Given the description of an element on the screen output the (x, y) to click on. 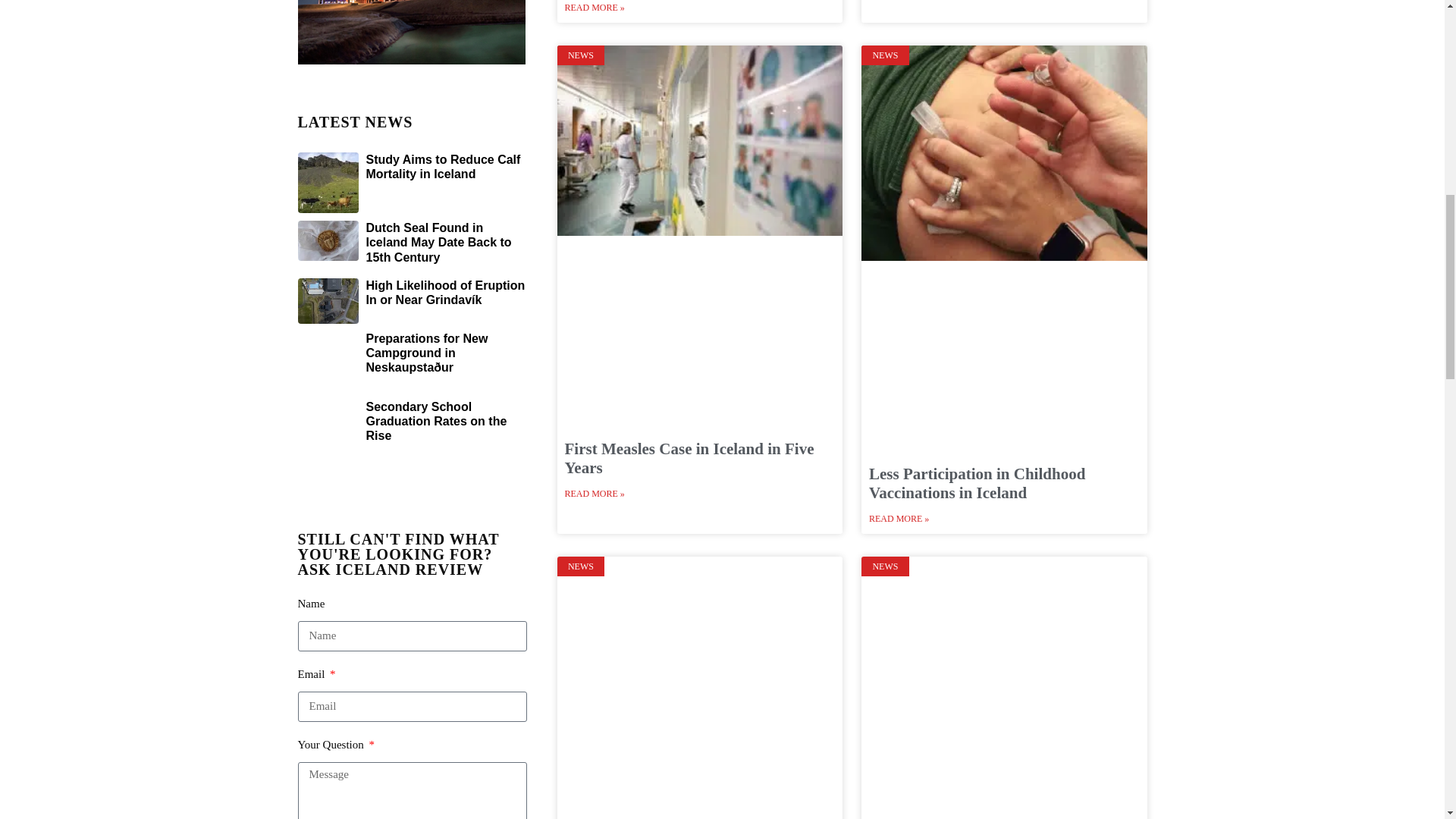
Secondary School Graduation Rates on the Rise (435, 421)
Study Aims to Reduce Calf Mortality in Iceland (442, 166)
Dutch Seal Found in Iceland May Date Back to 15th Century (438, 241)
